Given the description of an element on the screen output the (x, y) to click on. 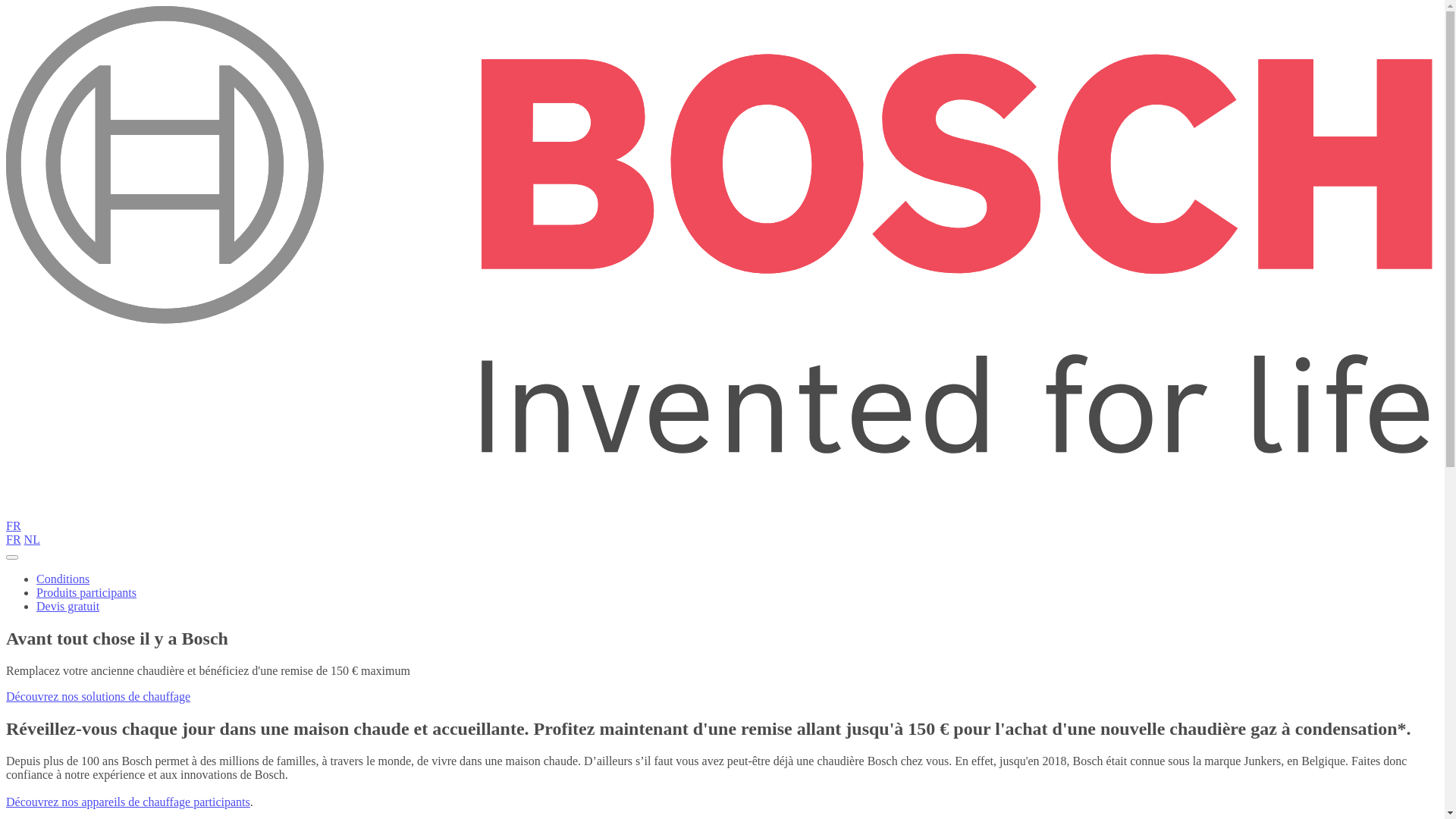
Devis gratuit Element type: text (67, 605)
NL Element type: text (32, 539)
Conditions Element type: text (62, 578)
FR Element type: text (13, 525)
Produits participants Element type: text (86, 592)
FR Element type: text (13, 539)
